Given the description of an element on the screen output the (x, y) to click on. 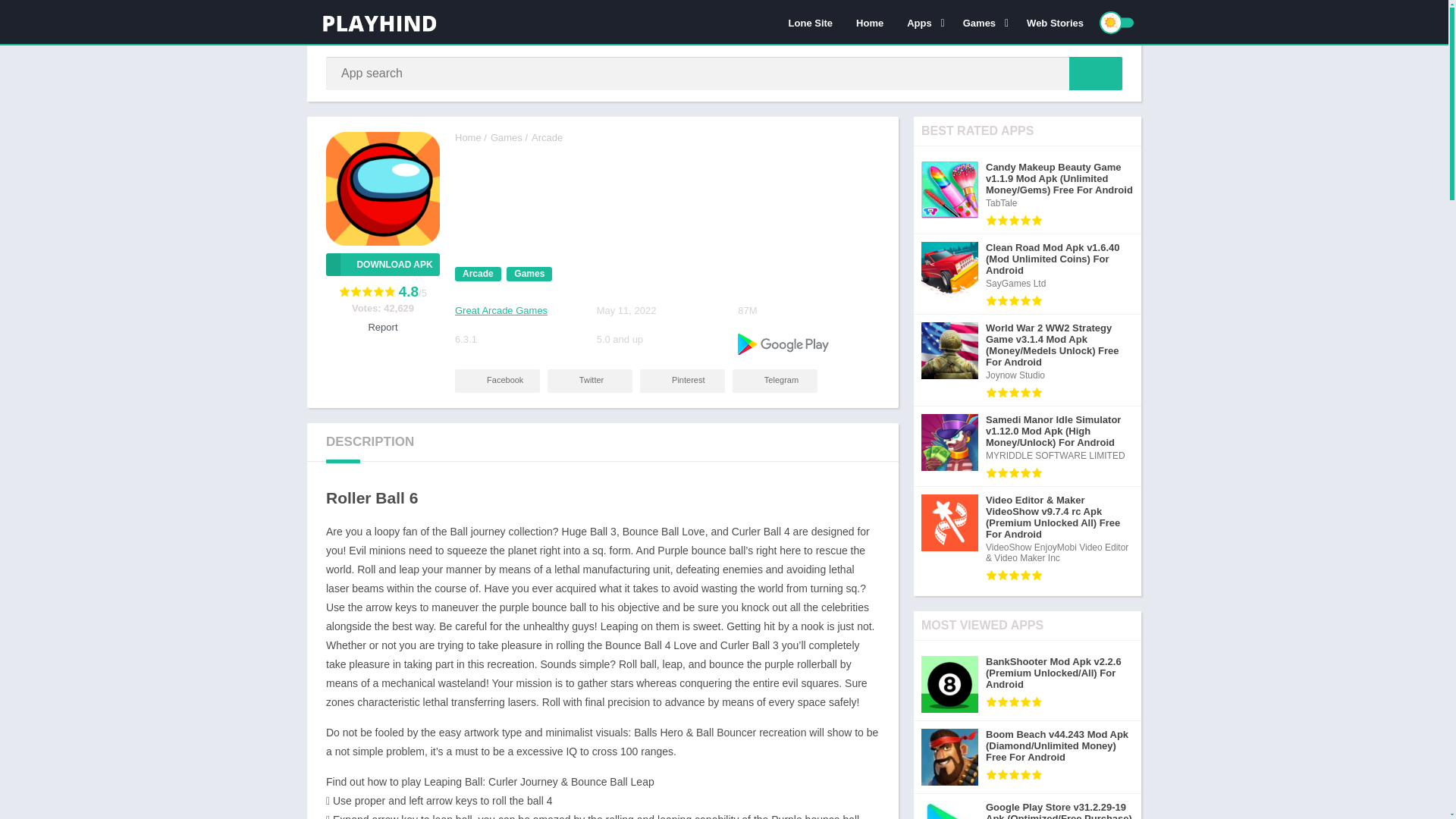
App search (1095, 73)
Download APK (382, 264)
playhind.com (467, 137)
